Given the description of an element on the screen output the (x, y) to click on. 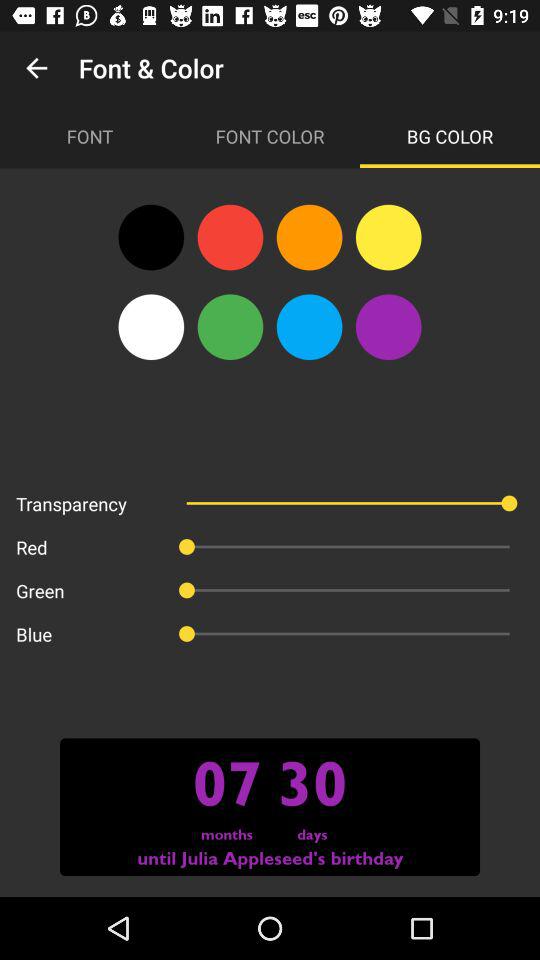
select the image in the bottom line of the web page (269, 807)
click on the black color above white color (151, 237)
click on bg color on the right side of font color (450, 136)
